Given the description of an element on the screen output the (x, y) to click on. 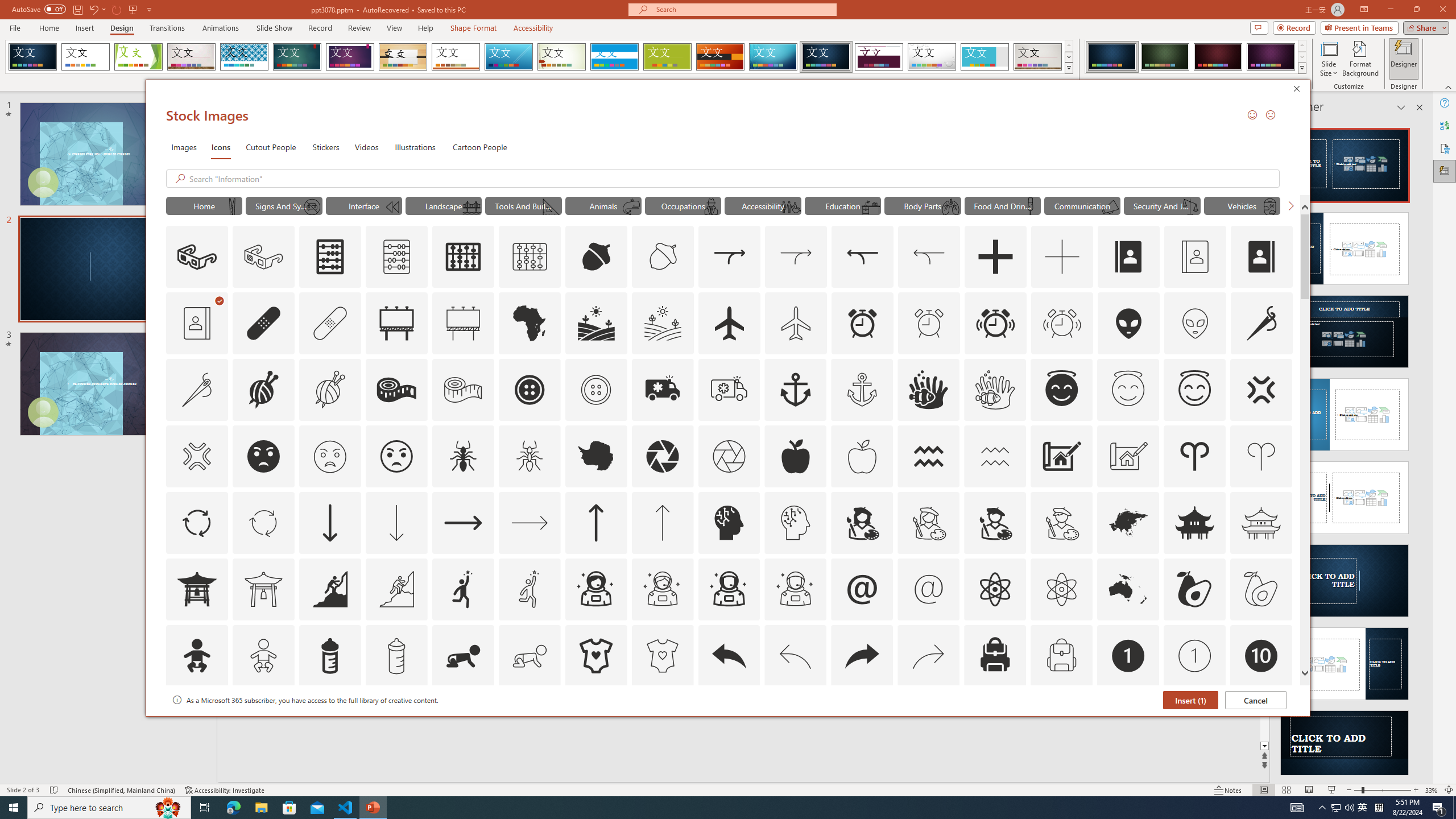
Search "Information" (731, 178)
AutomationID: Icons_AngelFace (1061, 389)
AutomationID: Icons_BabyCrawling_M (529, 655)
"Security And Justice" Icons. (1162, 205)
AutomationID: Icons_AddressBook_LTR (1128, 256)
Action Center, 1 new notification (1439, 807)
